Given the description of an element on the screen output the (x, y) to click on. 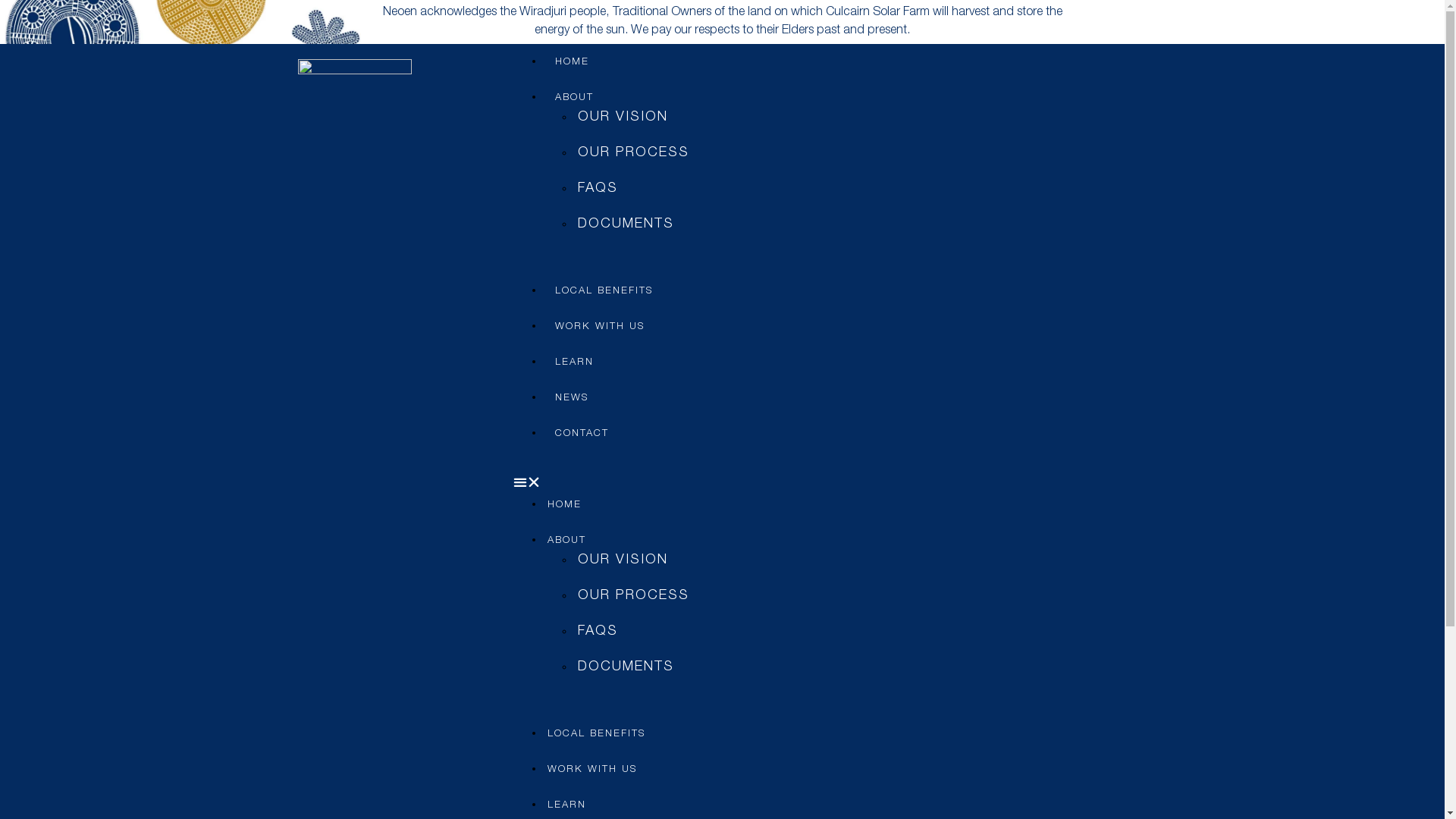
OUR VISION Element type: text (622, 560)
LOCAL BENEFITS Element type: text (603, 291)
LEARN Element type: text (566, 805)
CONTACT Element type: text (581, 434)
ABOUT Element type: text (574, 98)
WORK WITH US Element type: text (591, 770)
FAQS Element type: text (597, 188)
HOME Element type: text (571, 62)
LOCAL BENEFITS Element type: text (596, 734)
OUR VISION Element type: text (622, 117)
OUR PROCESS Element type: text (633, 153)
WORK WITH US Element type: text (599, 327)
DOCUMENTS Element type: text (625, 224)
DOCUMENTS Element type: text (625, 667)
LEARN Element type: text (574, 362)
NEWS Element type: text (571, 398)
HOME Element type: text (564, 505)
ABOUT Element type: text (566, 541)
OUR PROCESS Element type: text (633, 595)
FAQS Element type: text (597, 631)
